Given the description of an element on the screen output the (x, y) to click on. 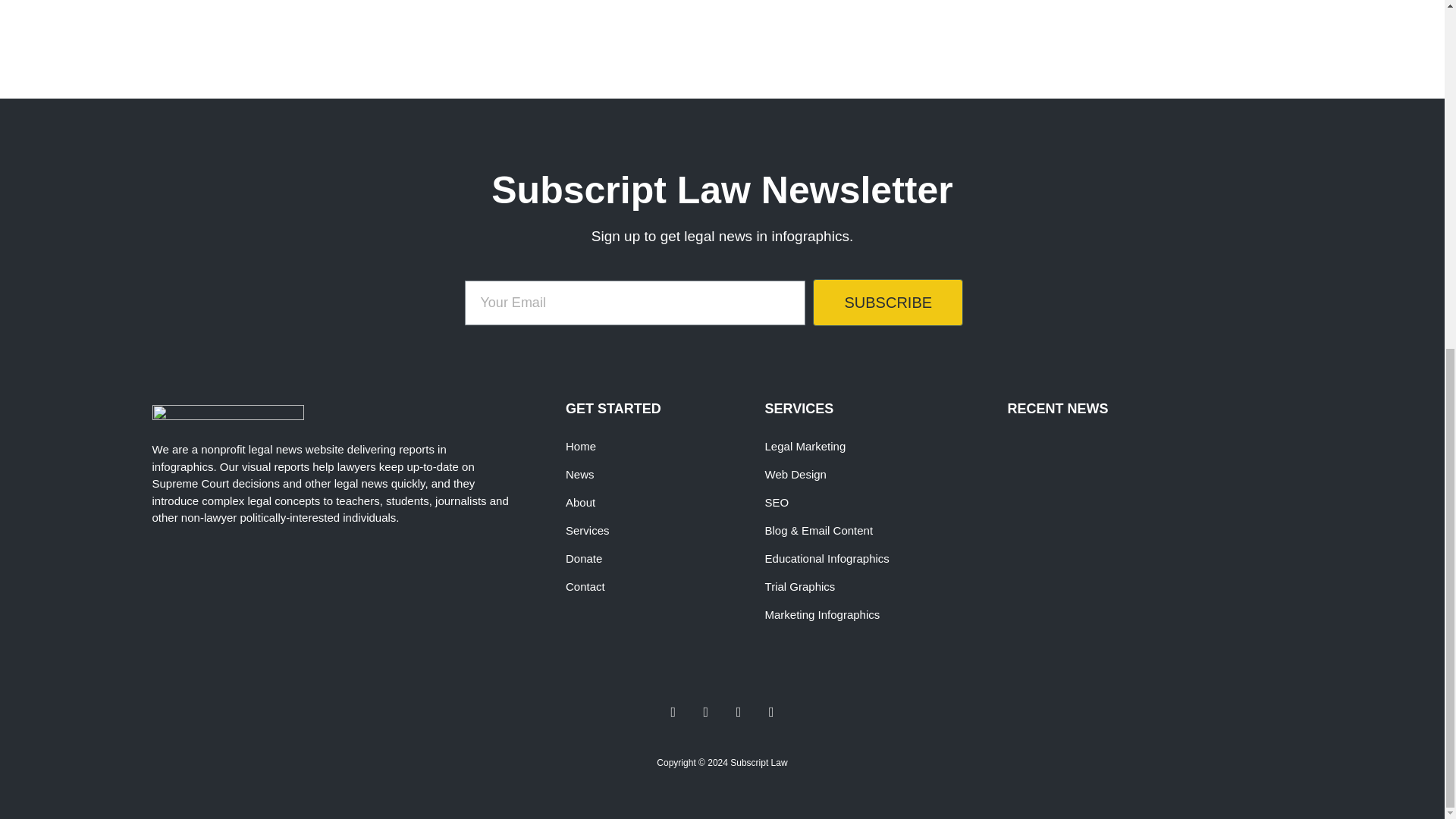
SUBSCRIBE (887, 302)
Educational Infographics (878, 558)
About (650, 502)
News (650, 474)
Web Design (878, 474)
Contact (650, 586)
SEO (878, 502)
Home (650, 446)
Trial Graphics (878, 586)
Donate (650, 558)
